Given the description of an element on the screen output the (x, y) to click on. 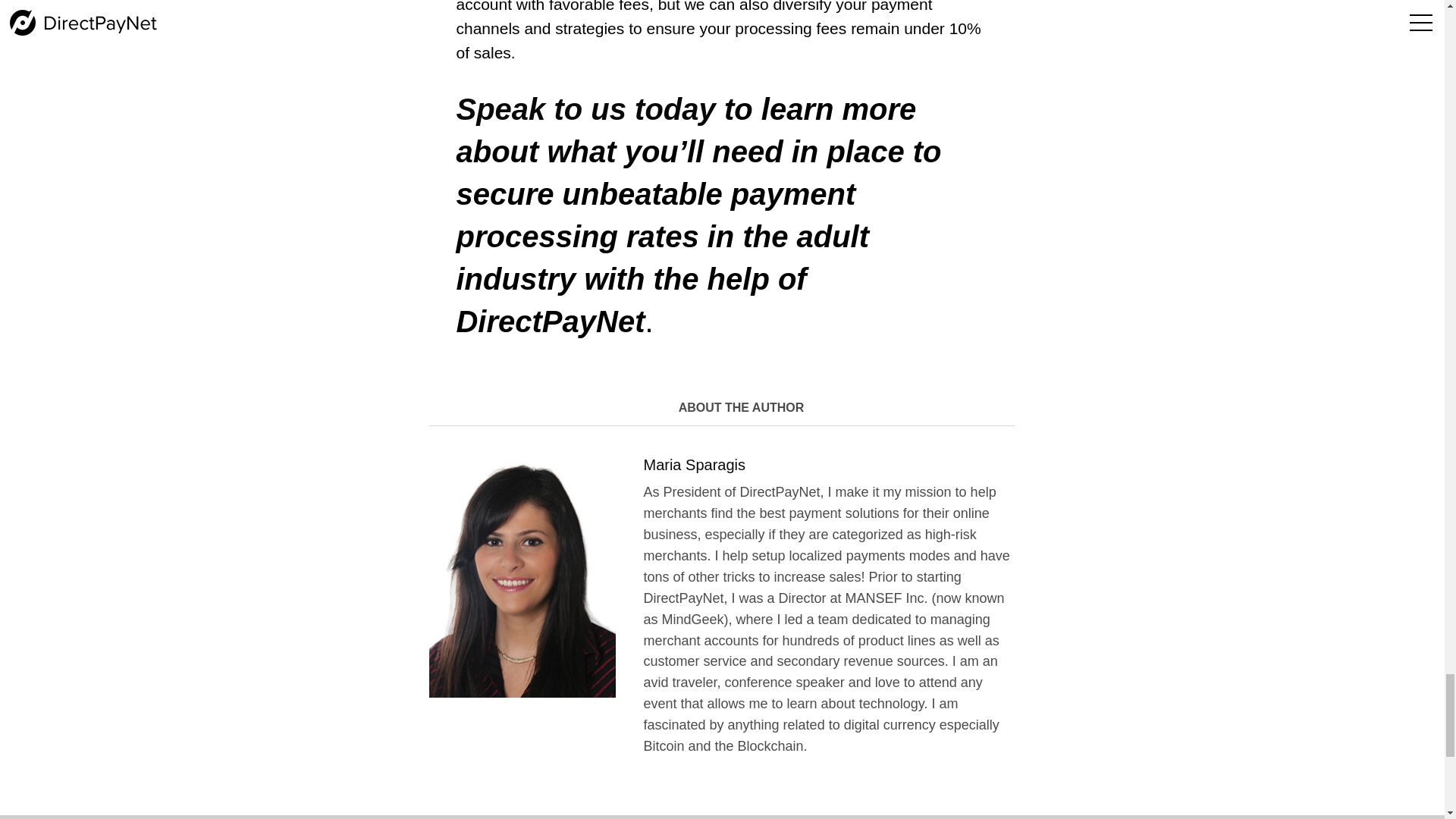
Posts by Maria Sparagis (694, 464)
